Given the description of an element on the screen output the (x, y) to click on. 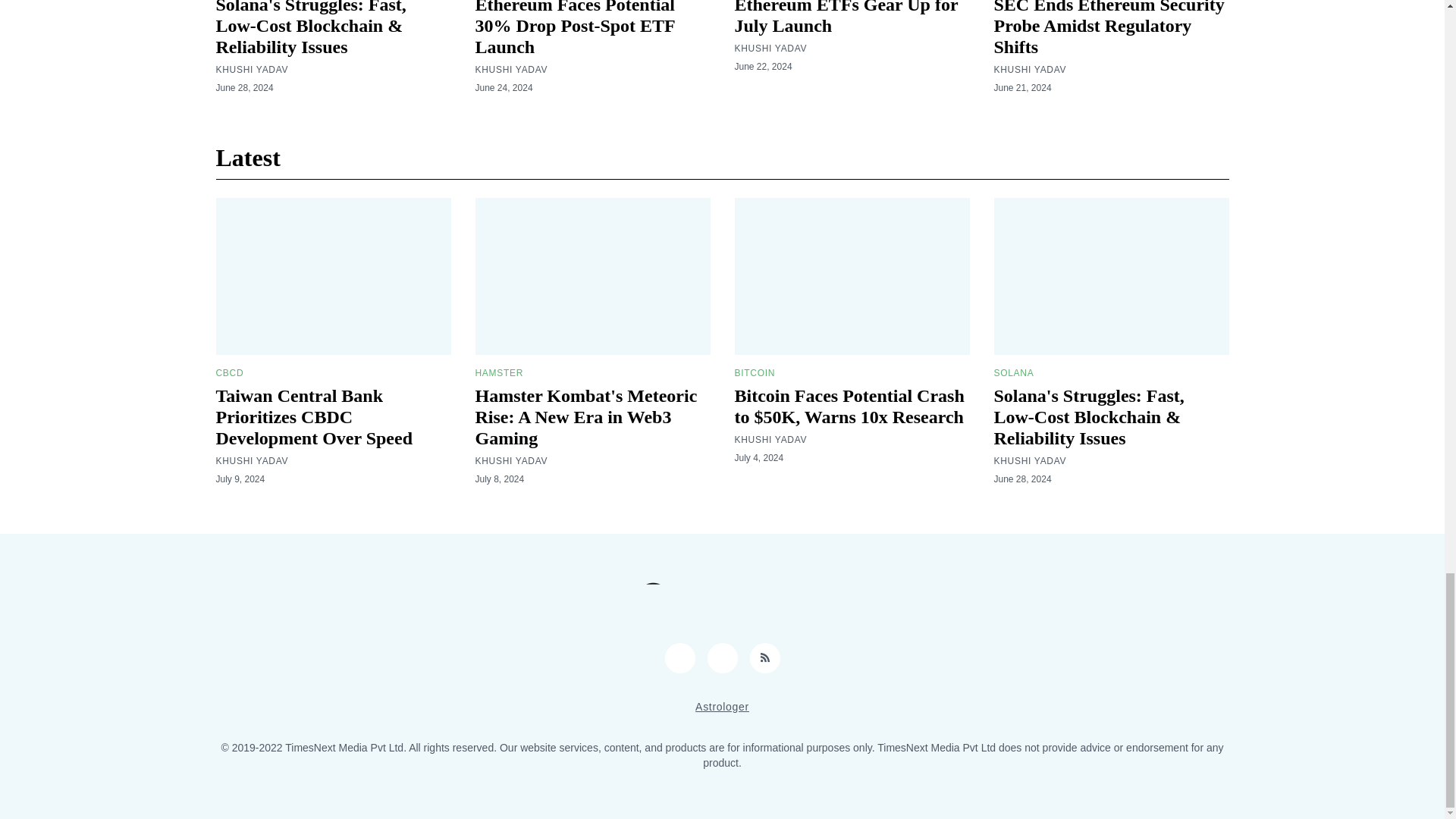
KHUSHI YADAV (510, 69)
KHUSHI YADAV (769, 48)
Ethereum ETFs Gear Up for July Launch (845, 18)
KHUSHI YADAV (251, 69)
